Given the description of an element on the screen output the (x, y) to click on. 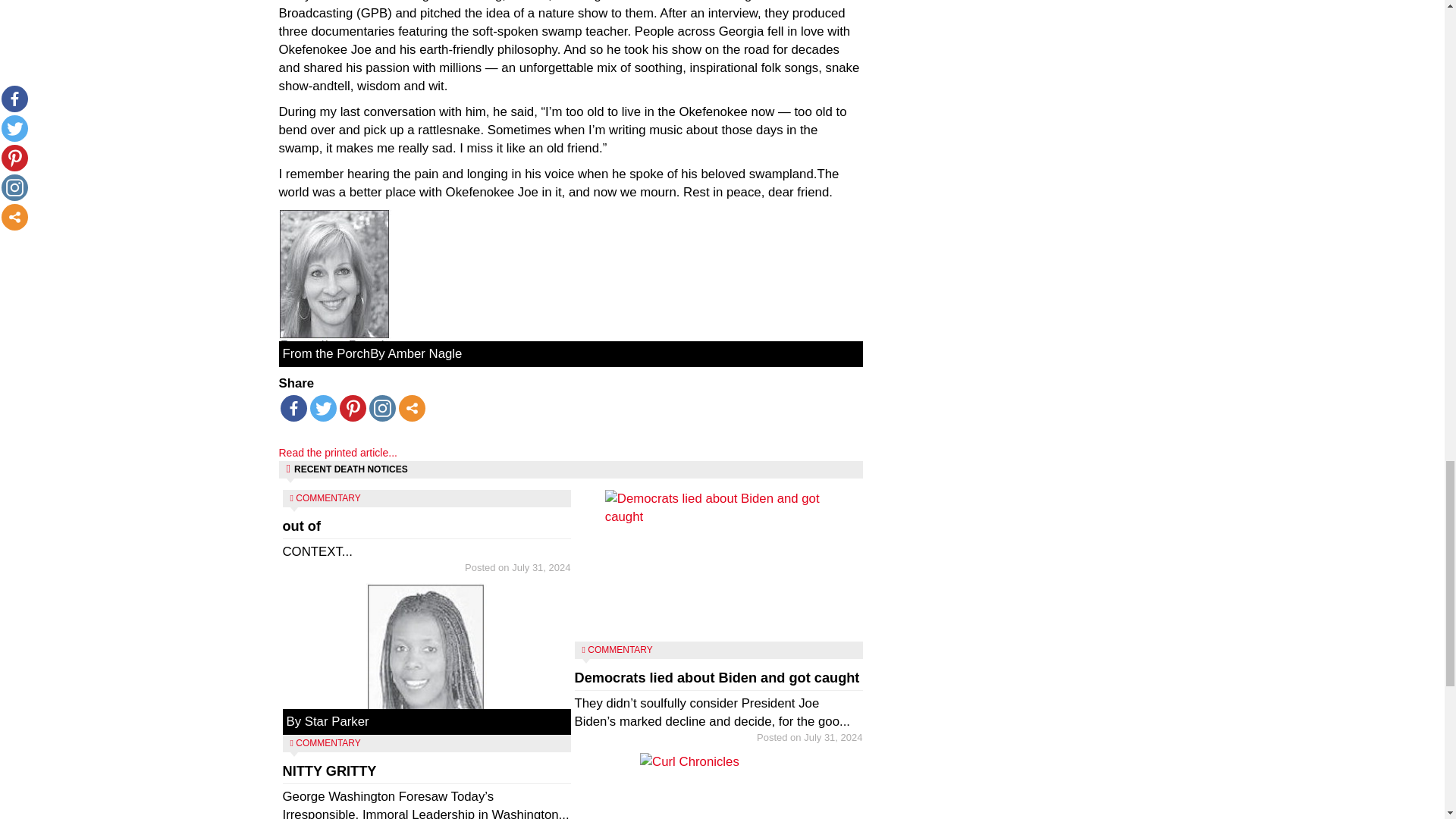
Facebook (294, 407)
out of (301, 525)
Read the printed article... (338, 452)
More (411, 407)
Twitter (322, 407)
Instagram (381, 407)
NITTY GRITTY (328, 770)
Pinterest (426, 558)
COMMENTARY (352, 407)
